Given the description of an element on the screen output the (x, y) to click on. 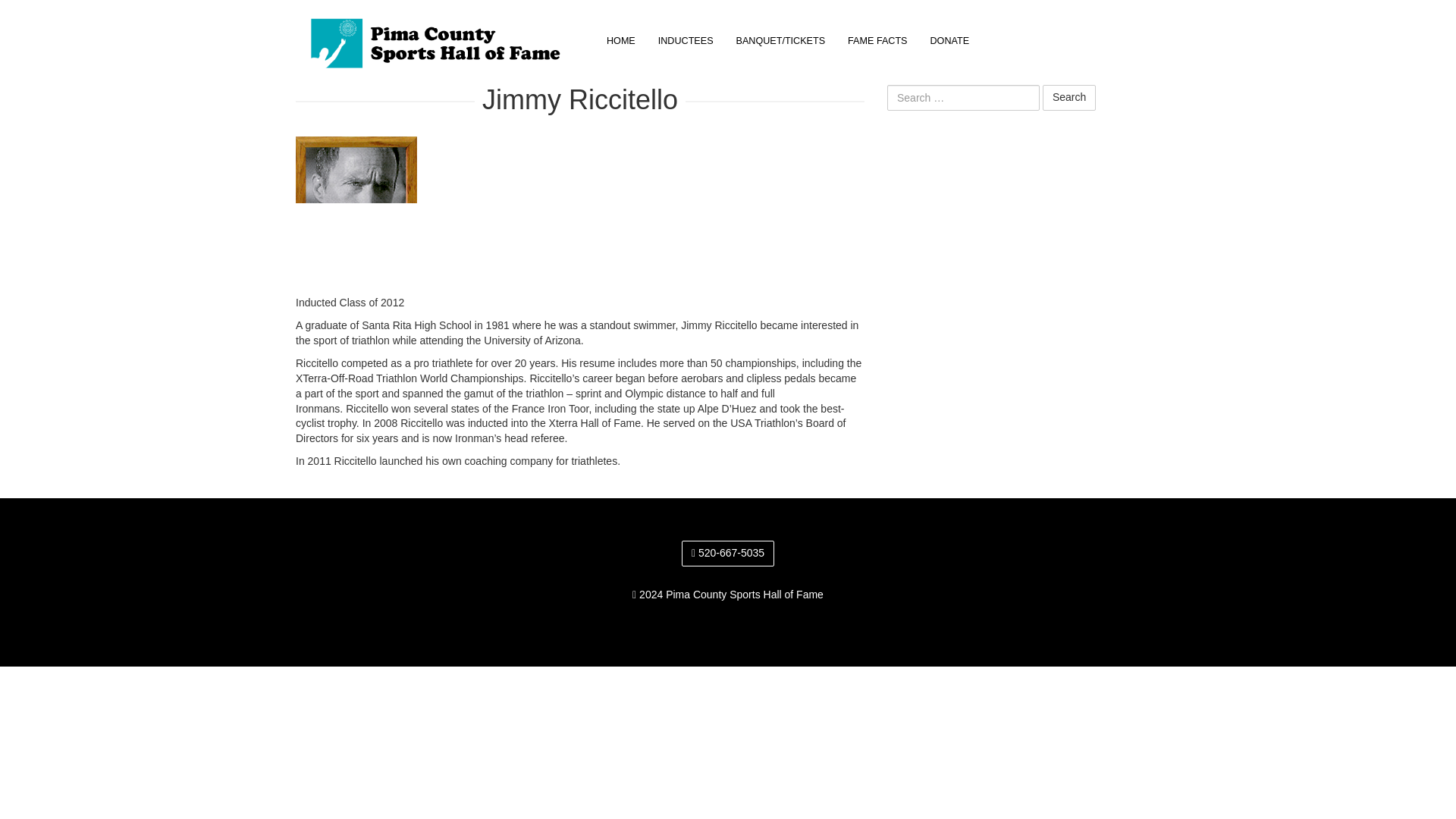
Pima County Sports Hall of Fame (439, 35)
FAME FACTS (876, 40)
INDUCTEES (685, 40)
Search (1069, 97)
Search (1069, 97)
520-667-5035 (727, 553)
Search (1069, 97)
